Given the description of an element on the screen output the (x, y) to click on. 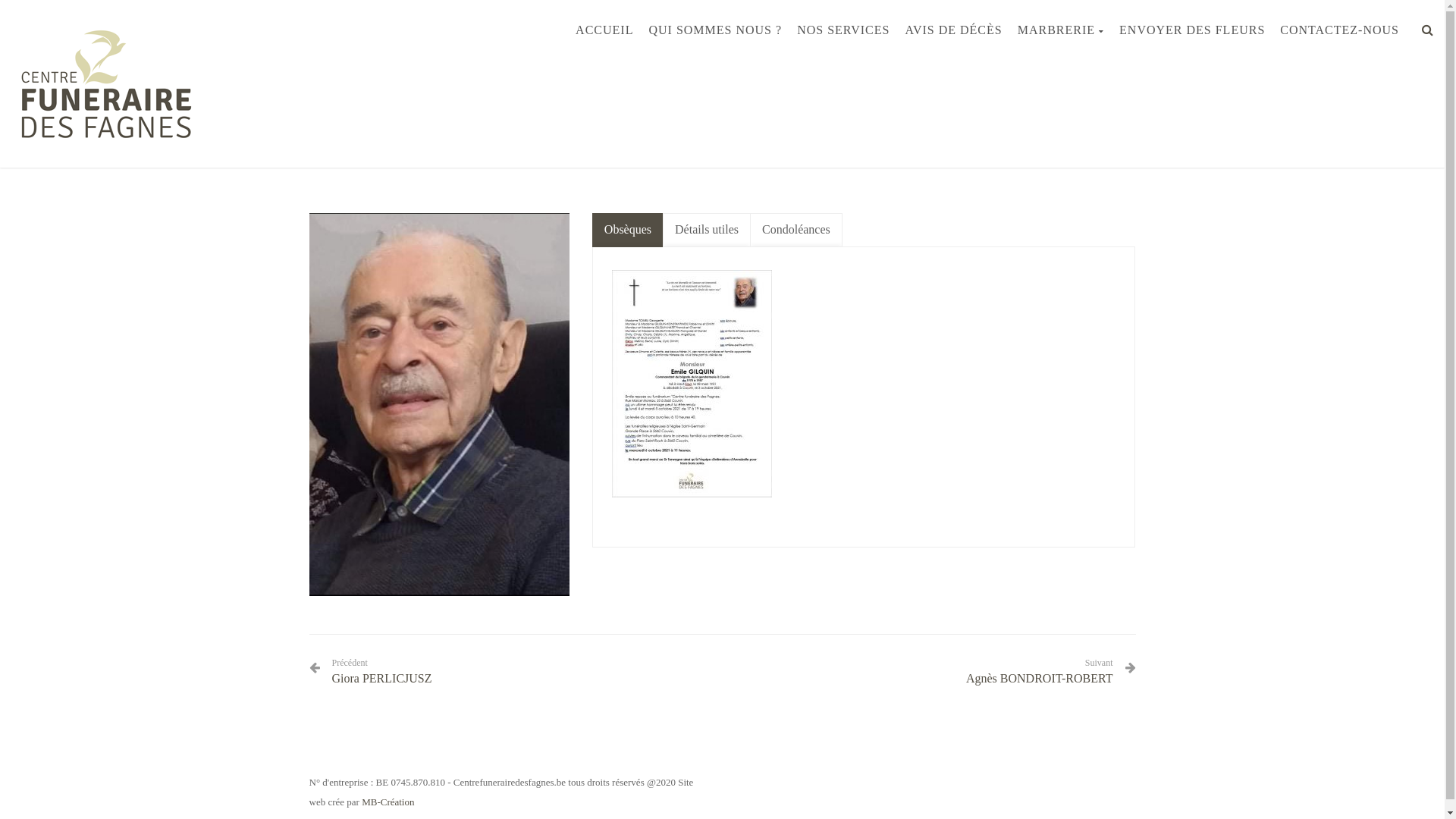
ENVOYER DES FLEURS Element type: text (1191, 30)
MARBRERIE Element type: text (1060, 30)
NOS SERVICES Element type: text (843, 30)
ACCUEIL Element type: text (604, 30)
CONTACTEZ-NOUS Element type: text (1339, 30)
QUI SOMMES NOUS ? Element type: text (714, 30)
